Given the description of an element on the screen output the (x, y) to click on. 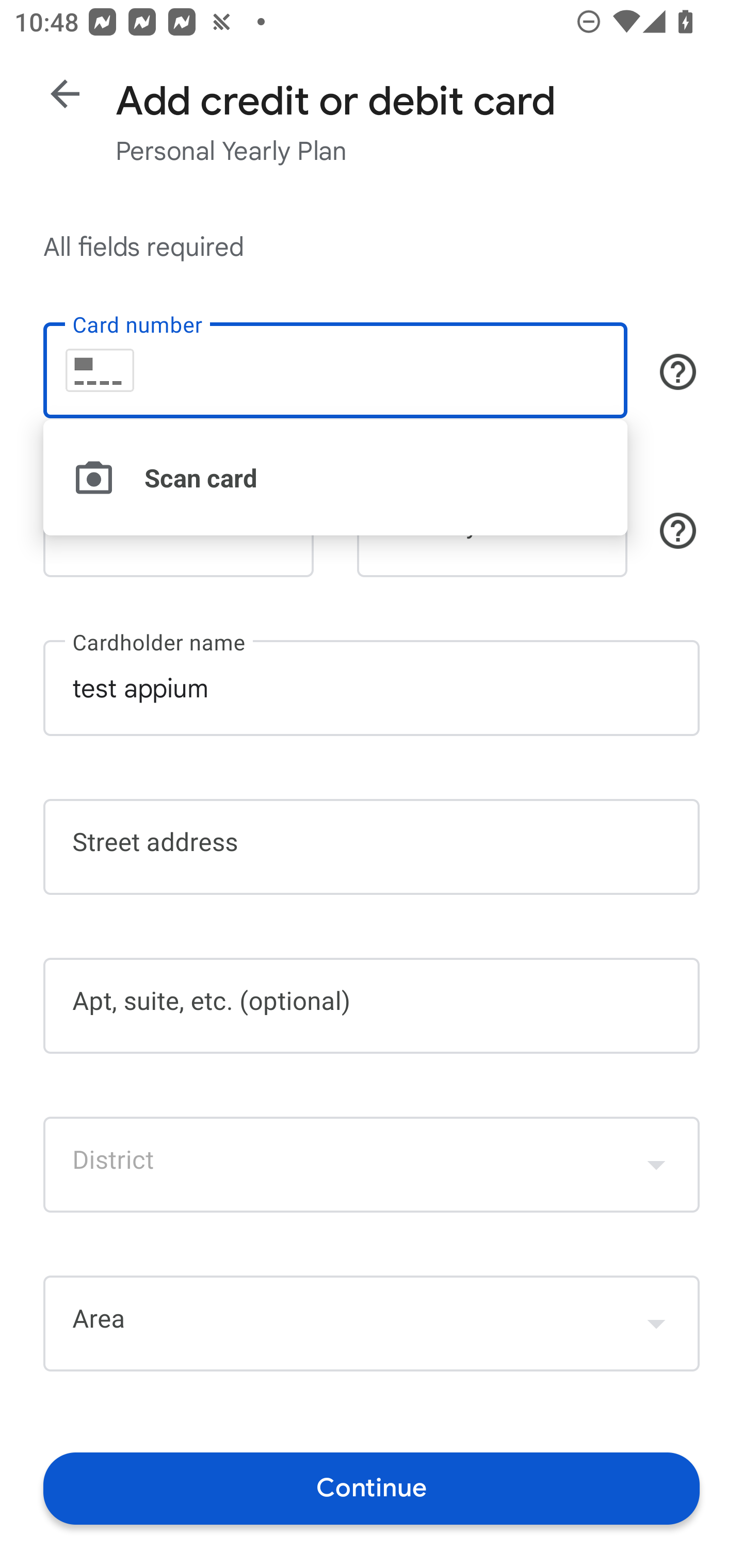
Back (64, 93)
Card number (335, 370)
Button, shows cards that are accepted for payment (677, 371)
Security code help (677, 530)
test appium (371, 687)
Street address (371, 847)
Apt, suite, etc. (optional) (371, 1005)
District (371, 1164)
Show dropdown menu (655, 1164)
Area (371, 1323)
Show dropdown menu (655, 1323)
Continue (371, 1487)
